Given the description of an element on the screen output the (x, y) to click on. 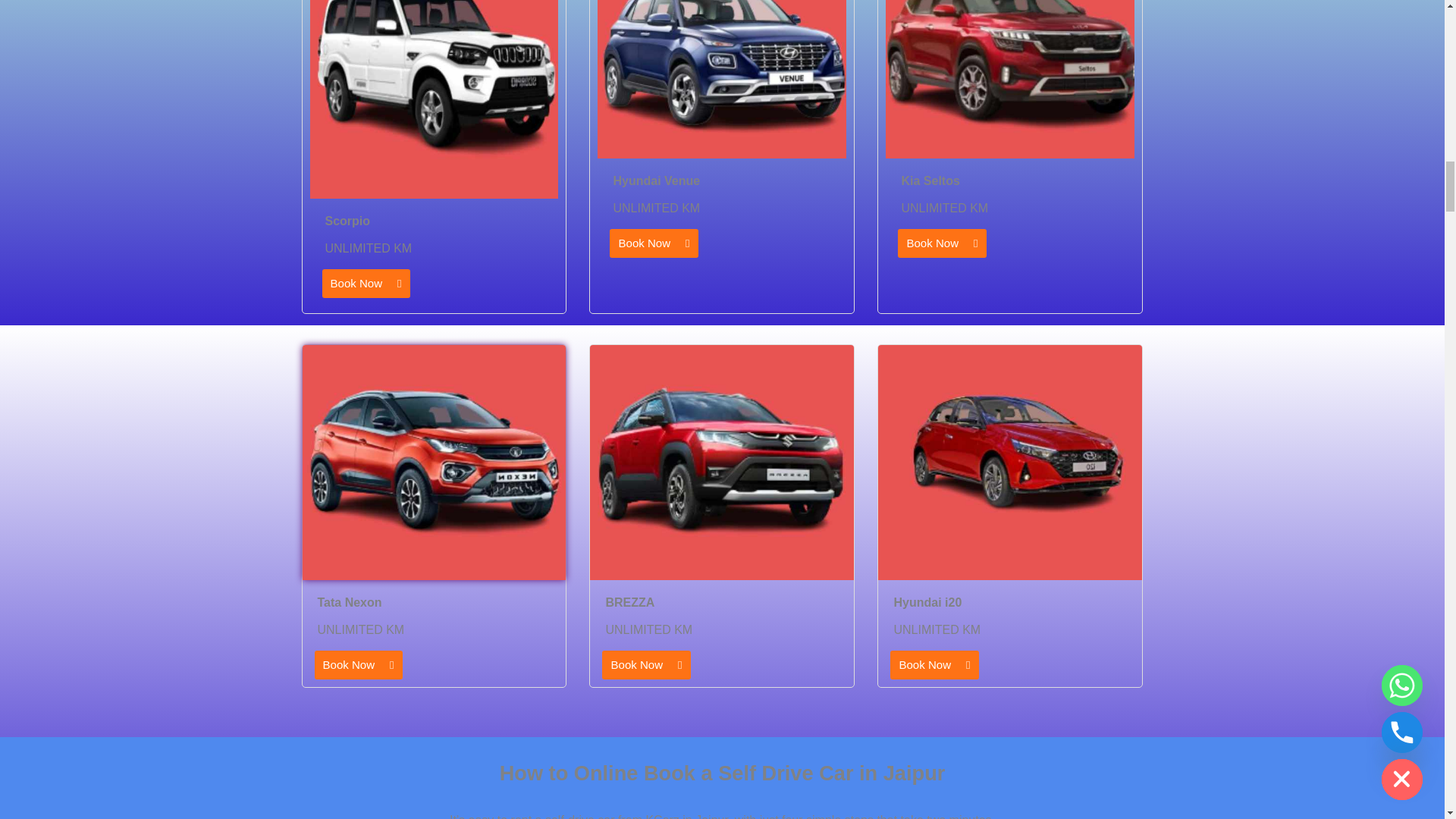
Book Now (357, 664)
Book Now (653, 243)
Book Now (933, 664)
Book Now (365, 283)
Book Now (646, 664)
Book Now (941, 243)
